Given the description of an element on the screen output the (x, y) to click on. 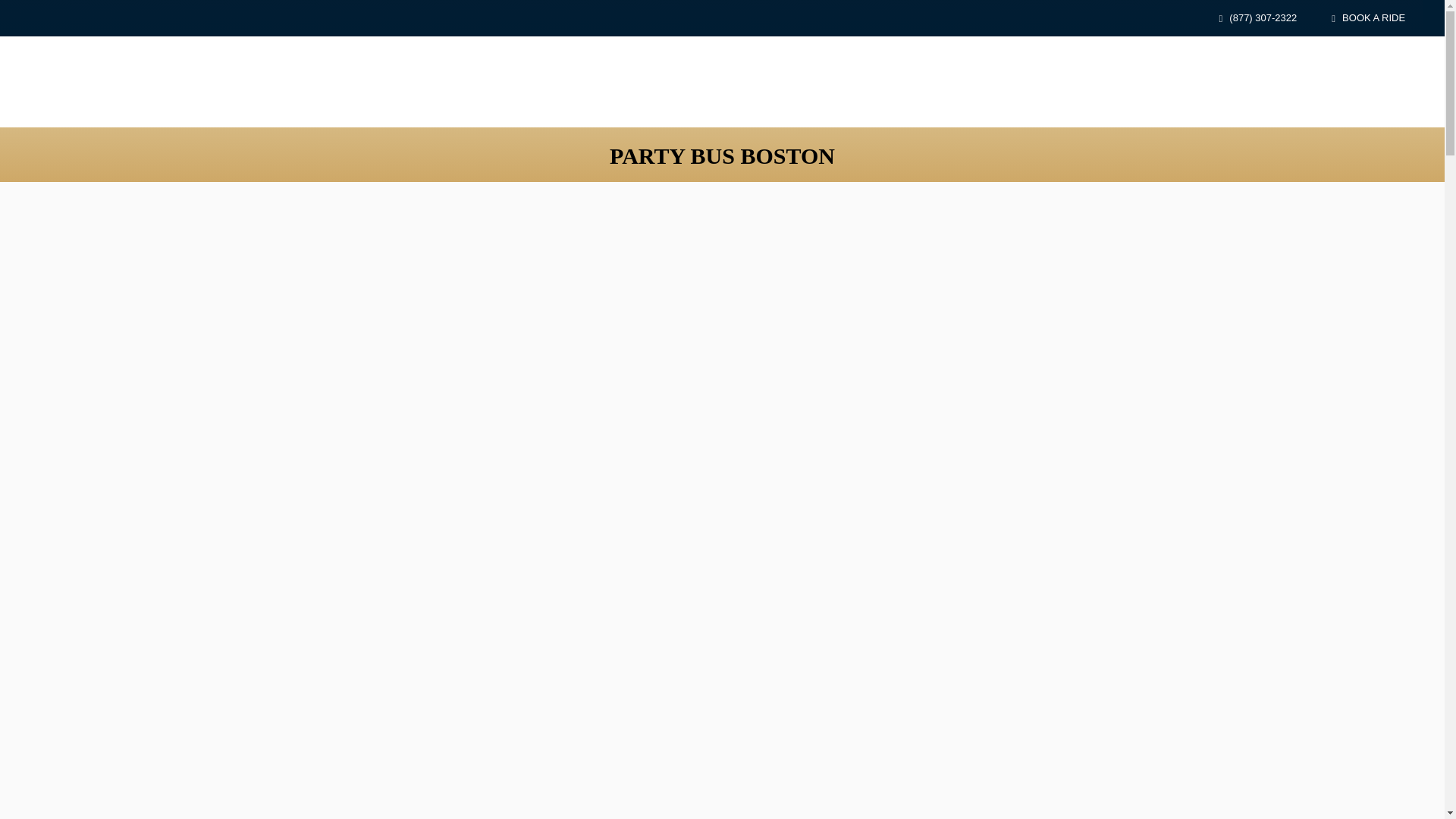
BOOK A RIDE (1368, 18)
